Given the description of an element on the screen output the (x, y) to click on. 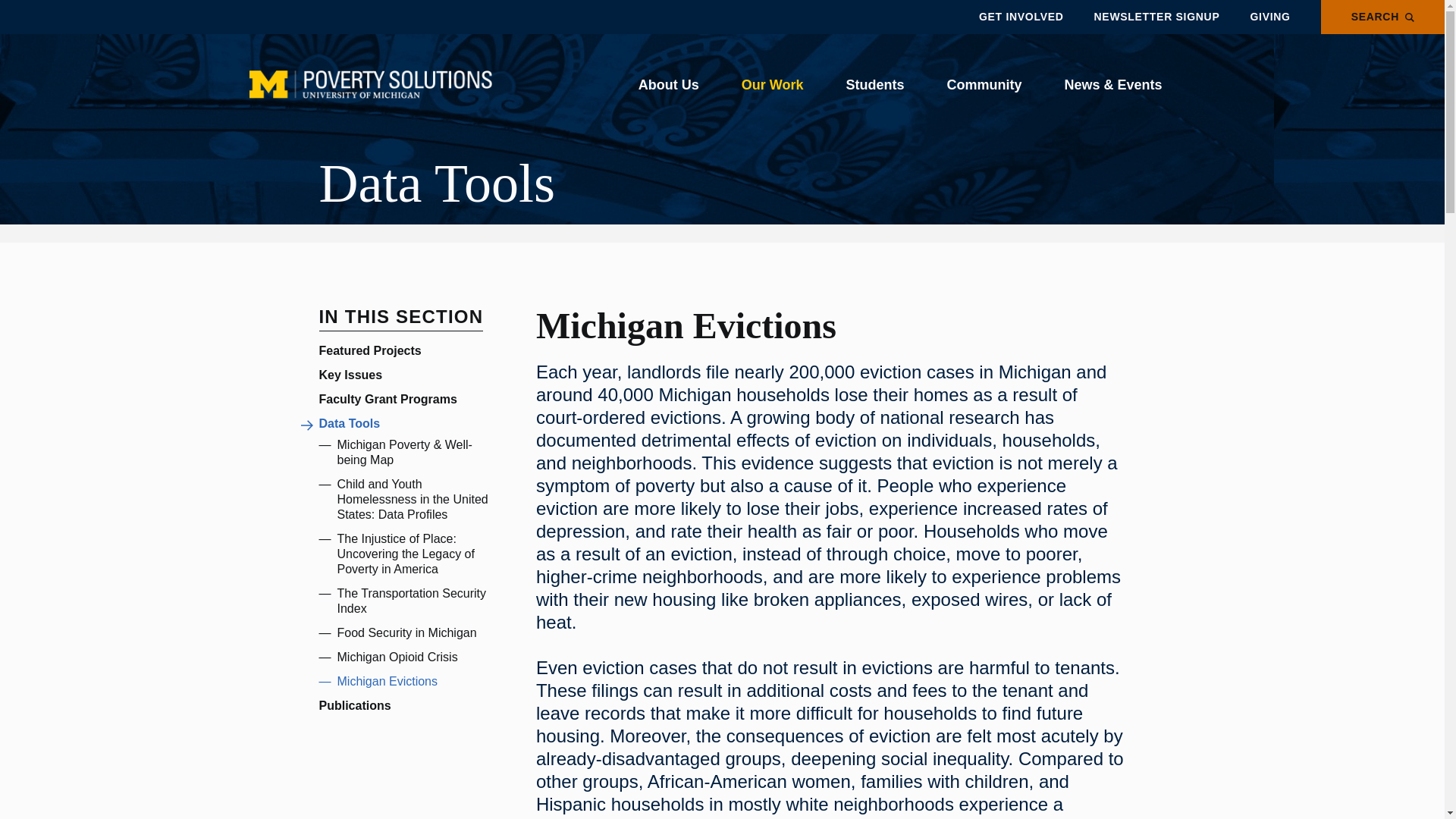
Community (983, 85)
Students (873, 85)
NEWSLETTER SIGNUP (1157, 16)
GET INVOLVED (1021, 16)
About Us (667, 85)
Our Work (772, 85)
GIVING (1269, 16)
